Given the description of an element on the screen output the (x, y) to click on. 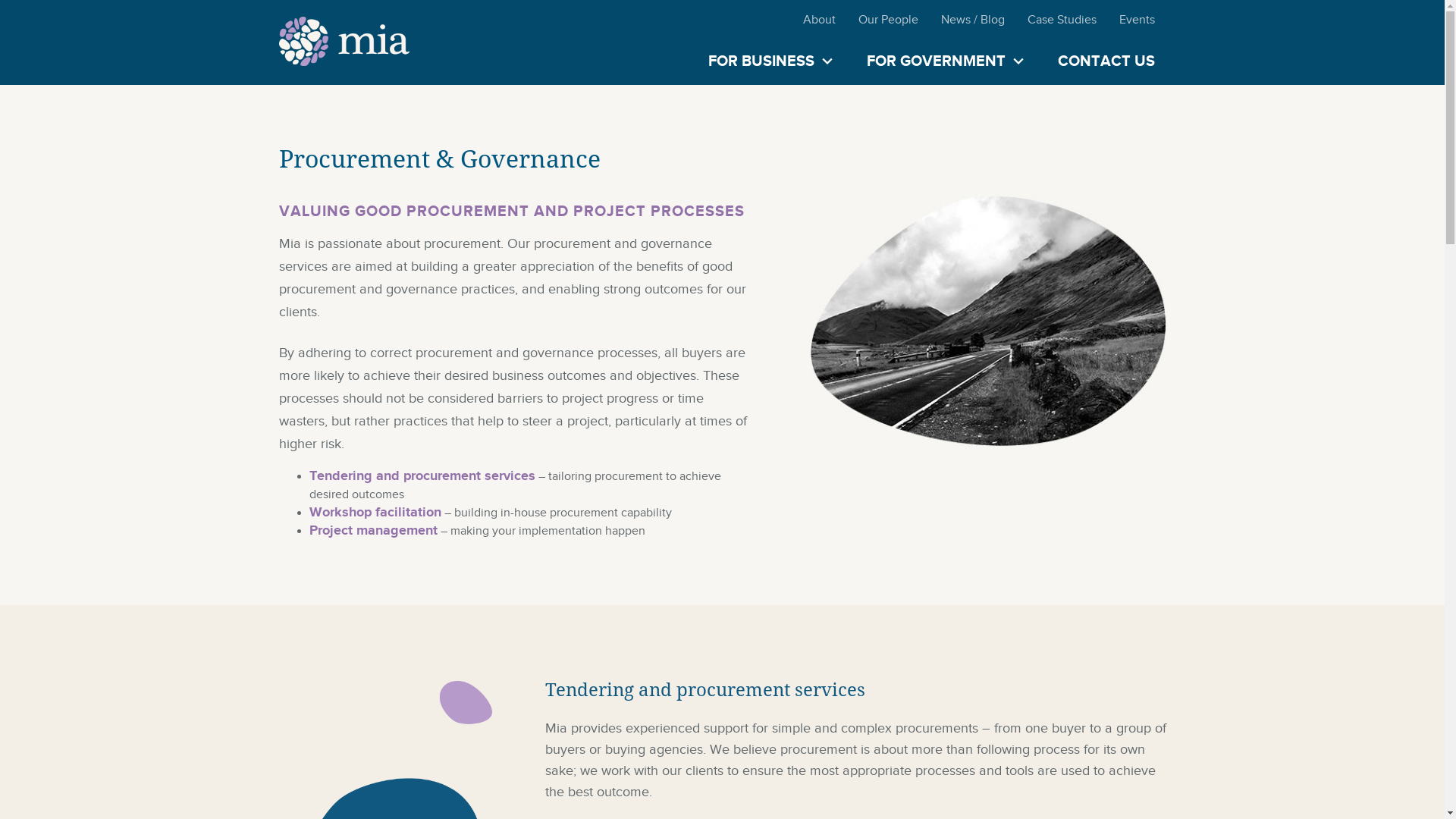
CONTACT US Element type: text (1106, 61)
About Element type: text (819, 19)
Our People Element type: text (887, 19)
Events Element type: text (1136, 19)
Project management Element type: text (373, 529)
Workshop facilitation Element type: text (375, 511)
FOR BUSINESS Element type: text (769, 61)
News / Blog Element type: text (972, 19)
Tendering and procurement services Element type: text (422, 475)
FOR GOVERNMENT Element type: text (945, 61)
Case Studies Element type: text (1061, 19)
